Given the description of an element on the screen output the (x, y) to click on. 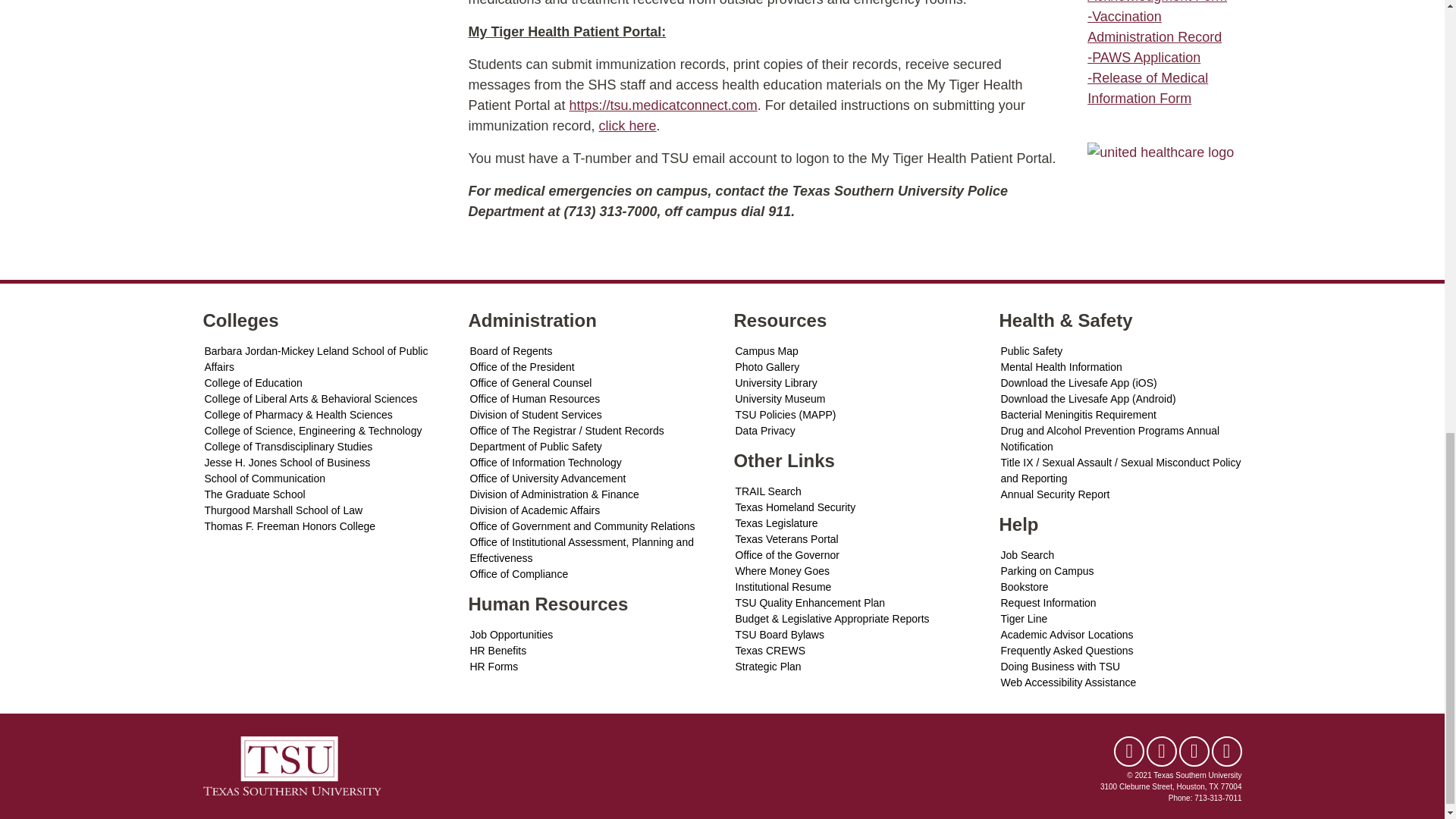
link to PAWS application (1143, 57)
Link To the College of Pharmacy and Health Sciences  Website (324, 415)
link to medical release form (1147, 77)
Link To the College of Education Website (324, 383)
link to medical release form (1139, 98)
link to health assessment (1160, 151)
